Given the description of an element on the screen output the (x, y) to click on. 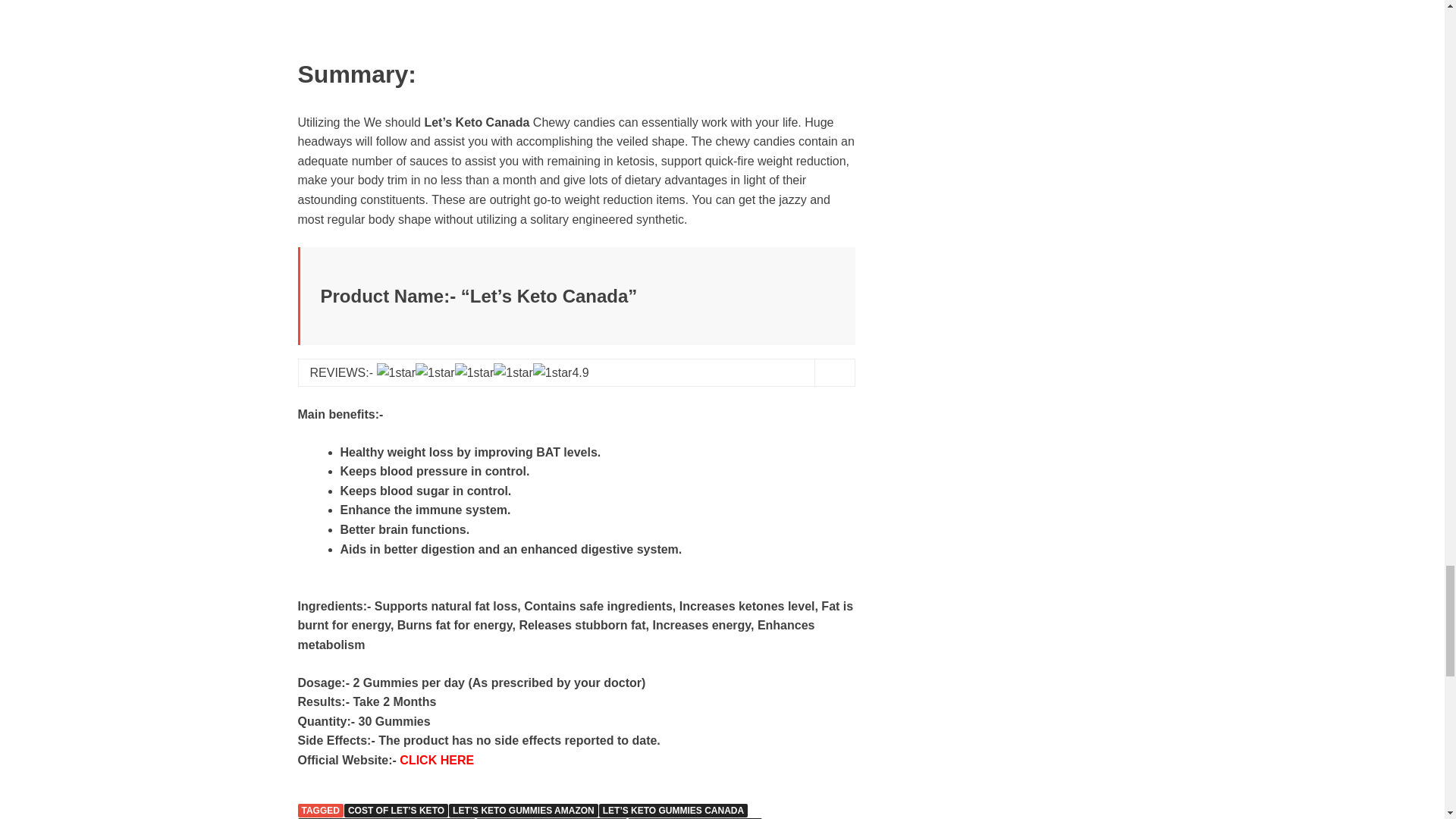
CLICK HERE (436, 759)
